Given the description of an element on the screen output the (x, y) to click on. 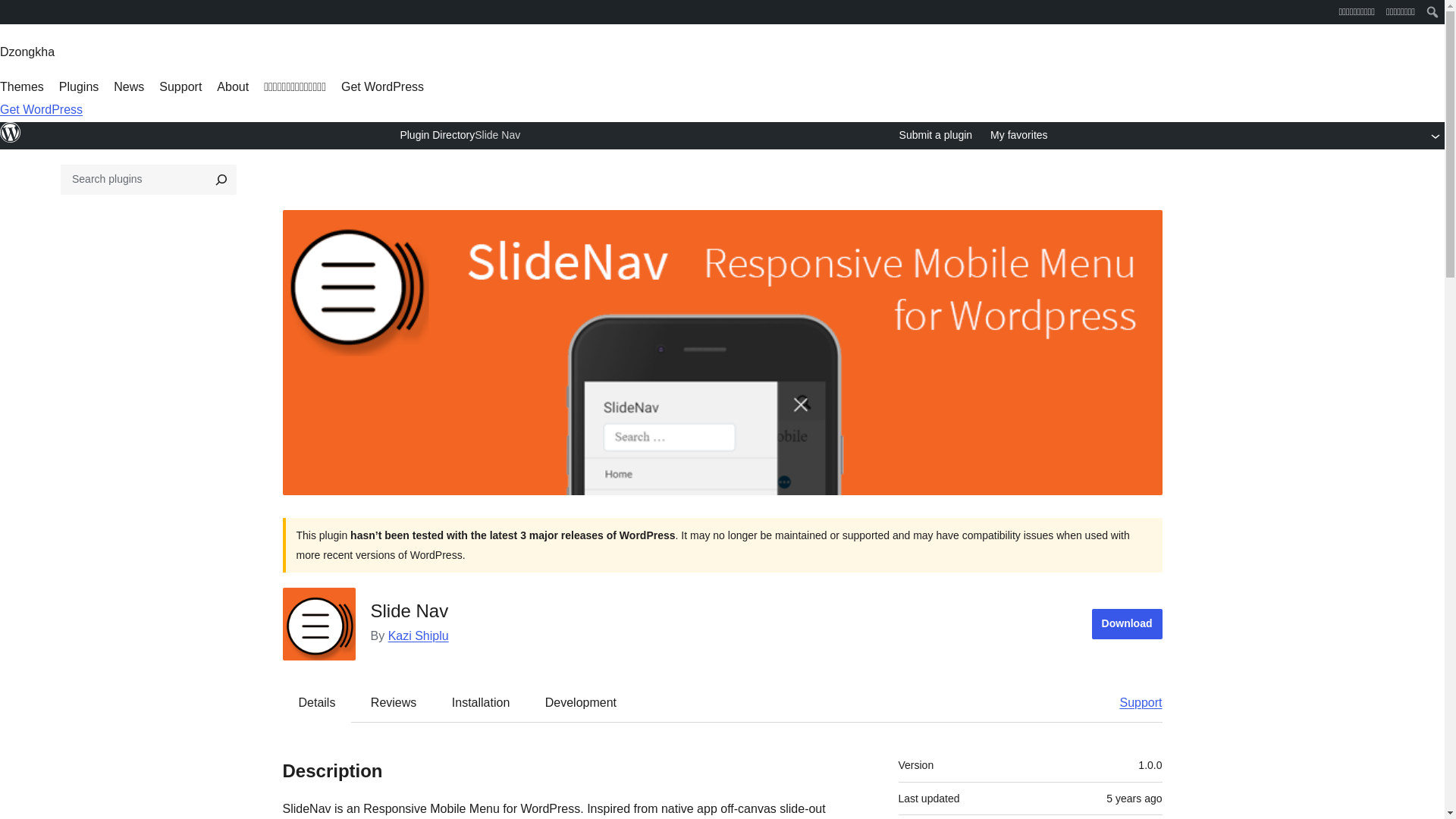
Themes (21, 87)
Plugins (79, 87)
WordPress.org (10, 139)
Plugin Directory (436, 134)
Details (316, 702)
Support (1132, 702)
Submit a plugin (935, 135)
WordPress.org (10, 132)
Kazi Shiplu (418, 635)
Get WordPress (381, 87)
WordPress.org (10, 10)
Installation (480, 702)
Reviews (392, 702)
About (232, 87)
Slide Nav (496, 135)
